Given the description of an element on the screen output the (x, y) to click on. 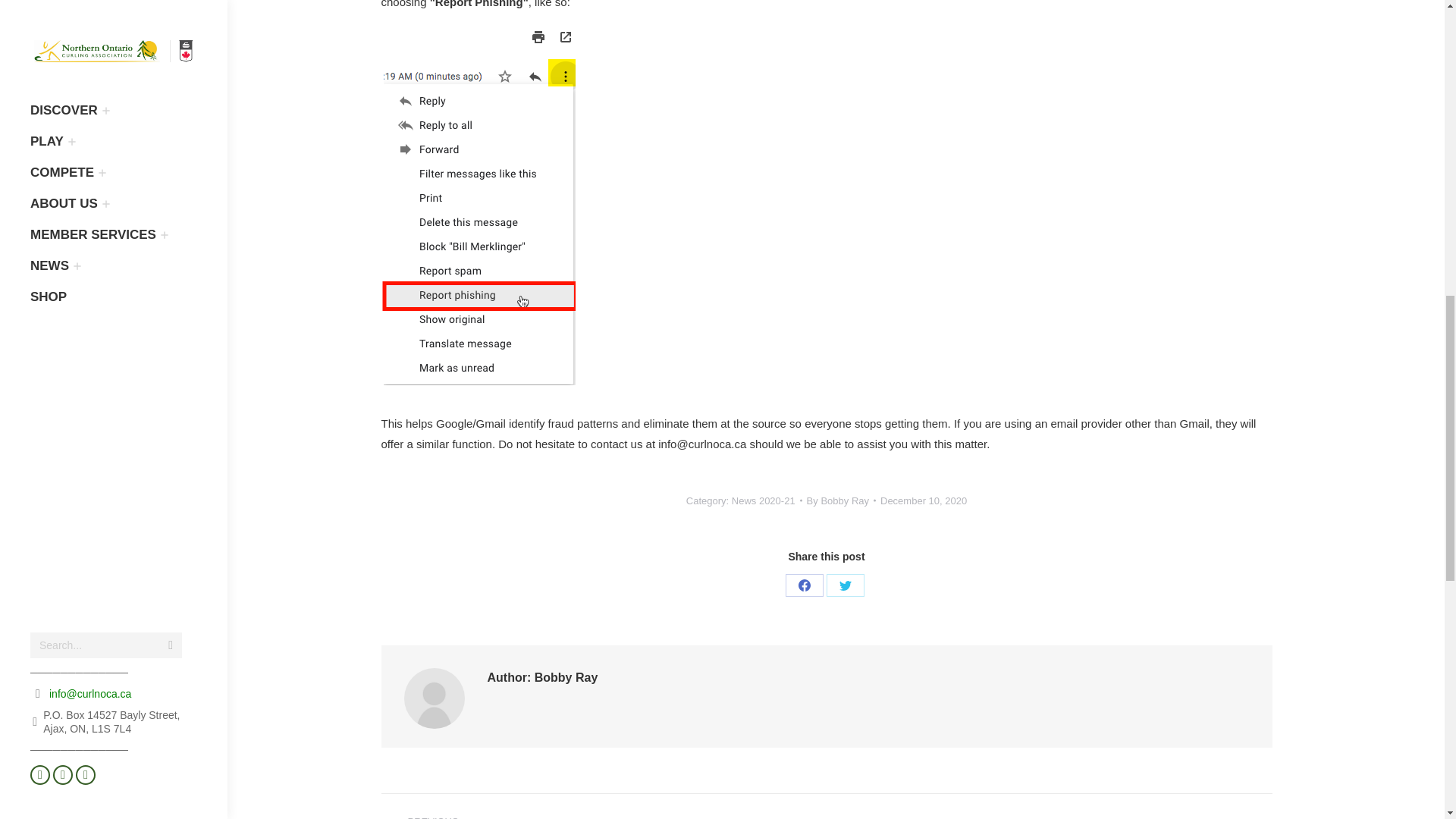
View all posts by Bobby Ray (841, 500)
Facebook (805, 585)
11:53 am (923, 500)
